Given the description of an element on the screen output the (x, y) to click on. 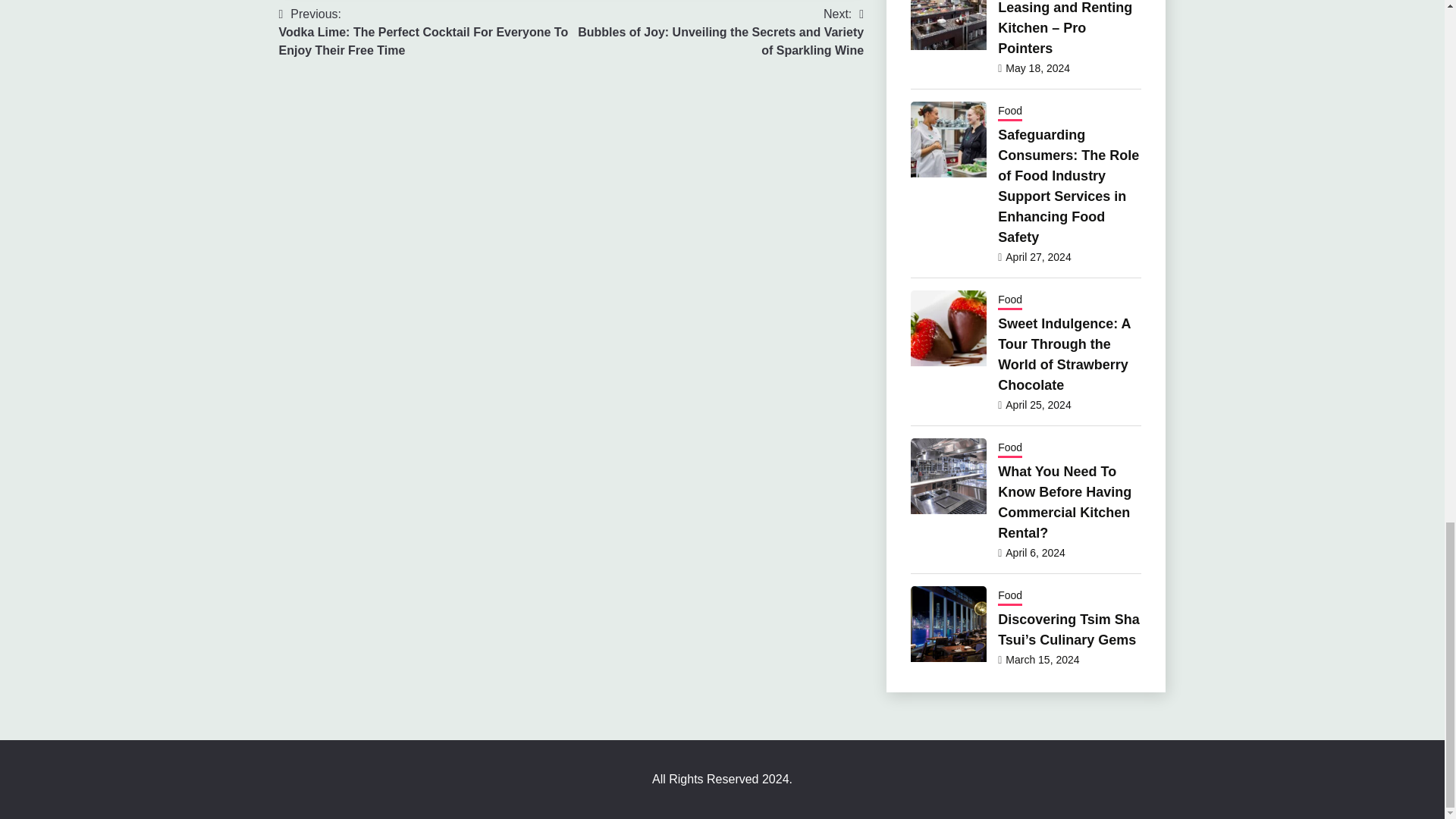
May 18, 2024 (1038, 68)
Food (1009, 112)
April 27, 2024 (1038, 256)
